Given the description of an element on the screen output the (x, y) to click on. 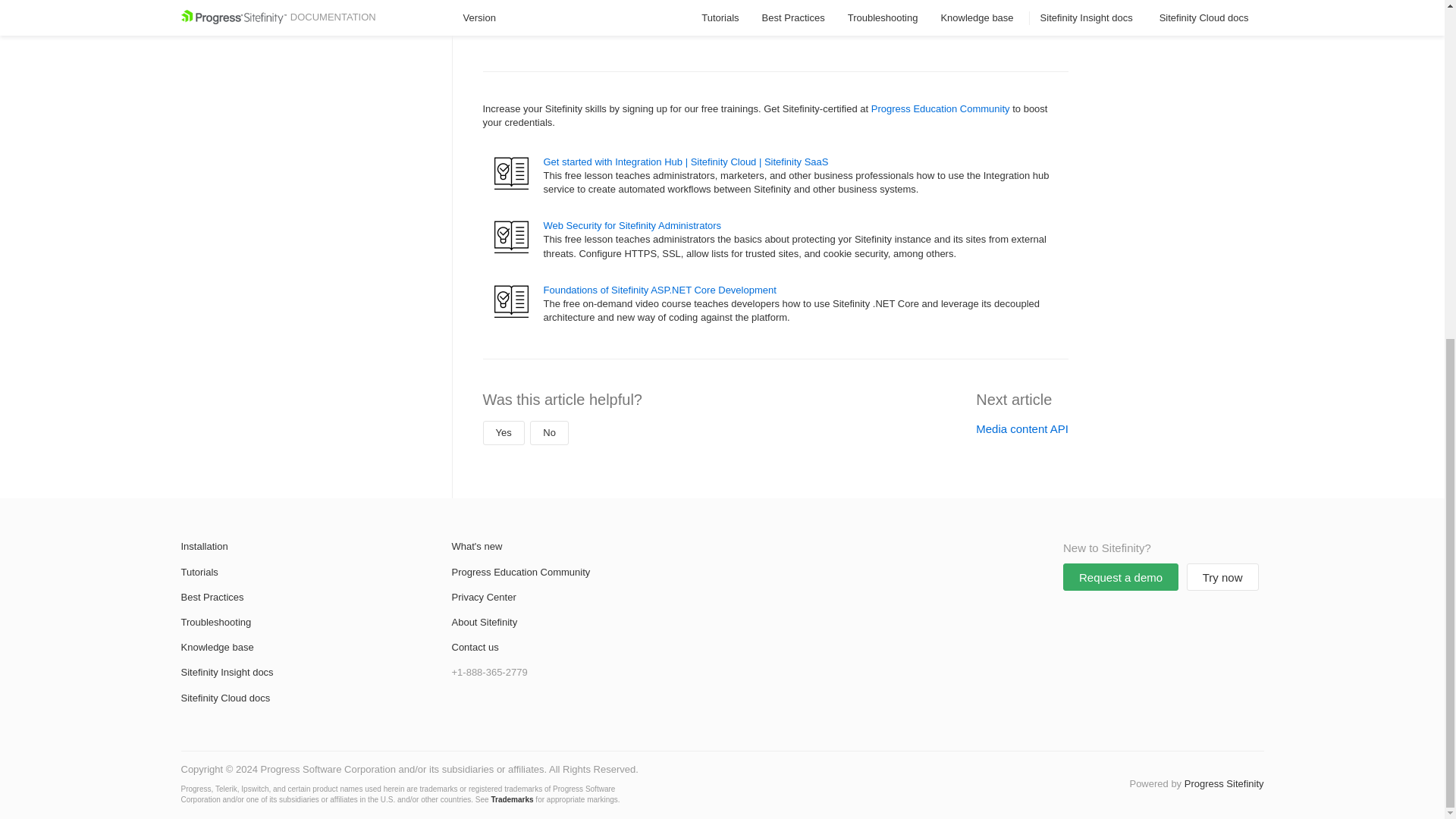
Web Security for Sitefinity Administrators (631, 225)
Delete news items (583, 10)
Foundations of Sitefinity ASP.NET Core Development (659, 289)
No (549, 432)
Yes (502, 432)
Progress Education Community (940, 108)
